Given the description of an element on the screen output the (x, y) to click on. 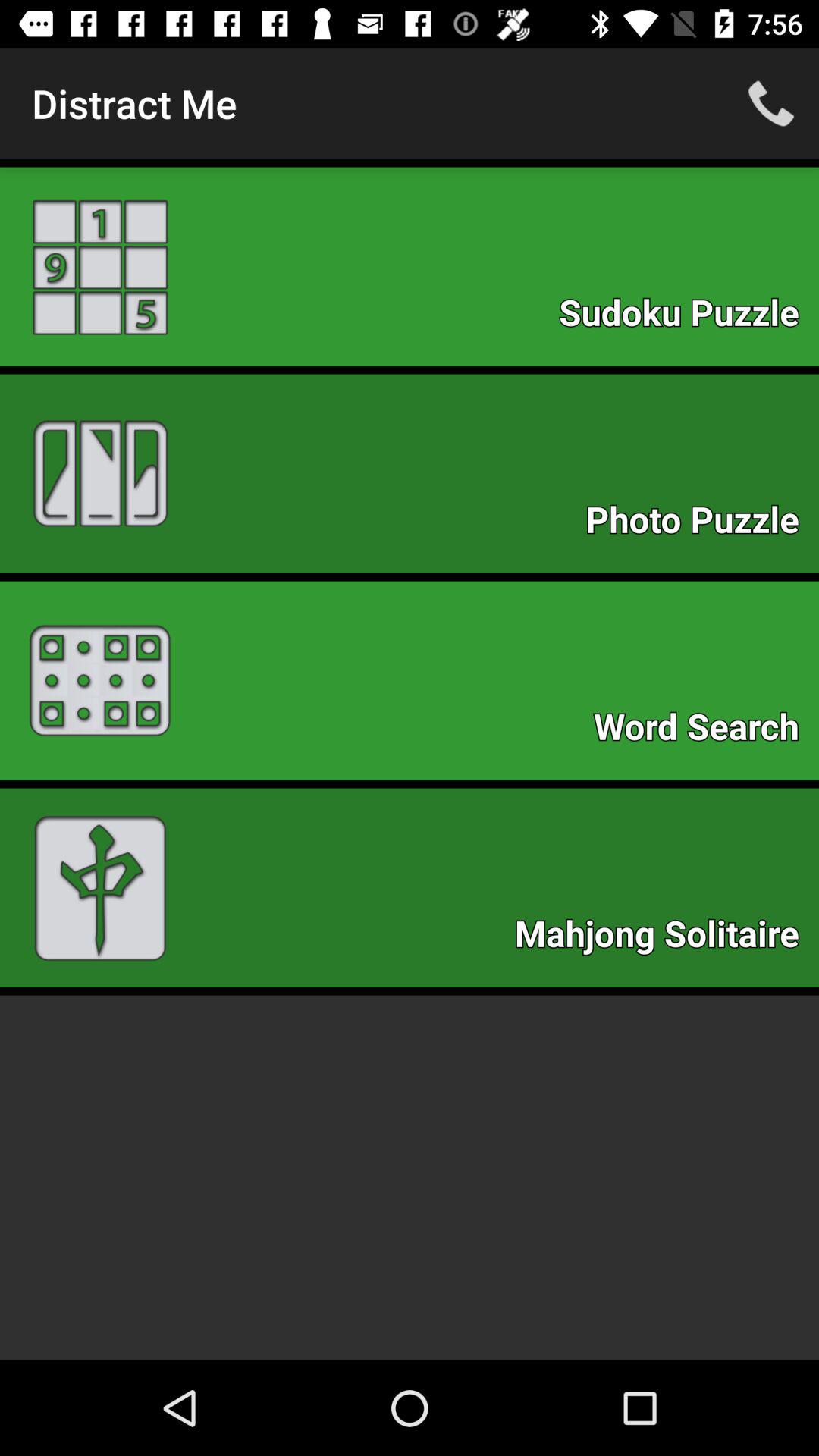
open the item above mahjong solitaire icon (704, 730)
